Given the description of an element on the screen output the (x, y) to click on. 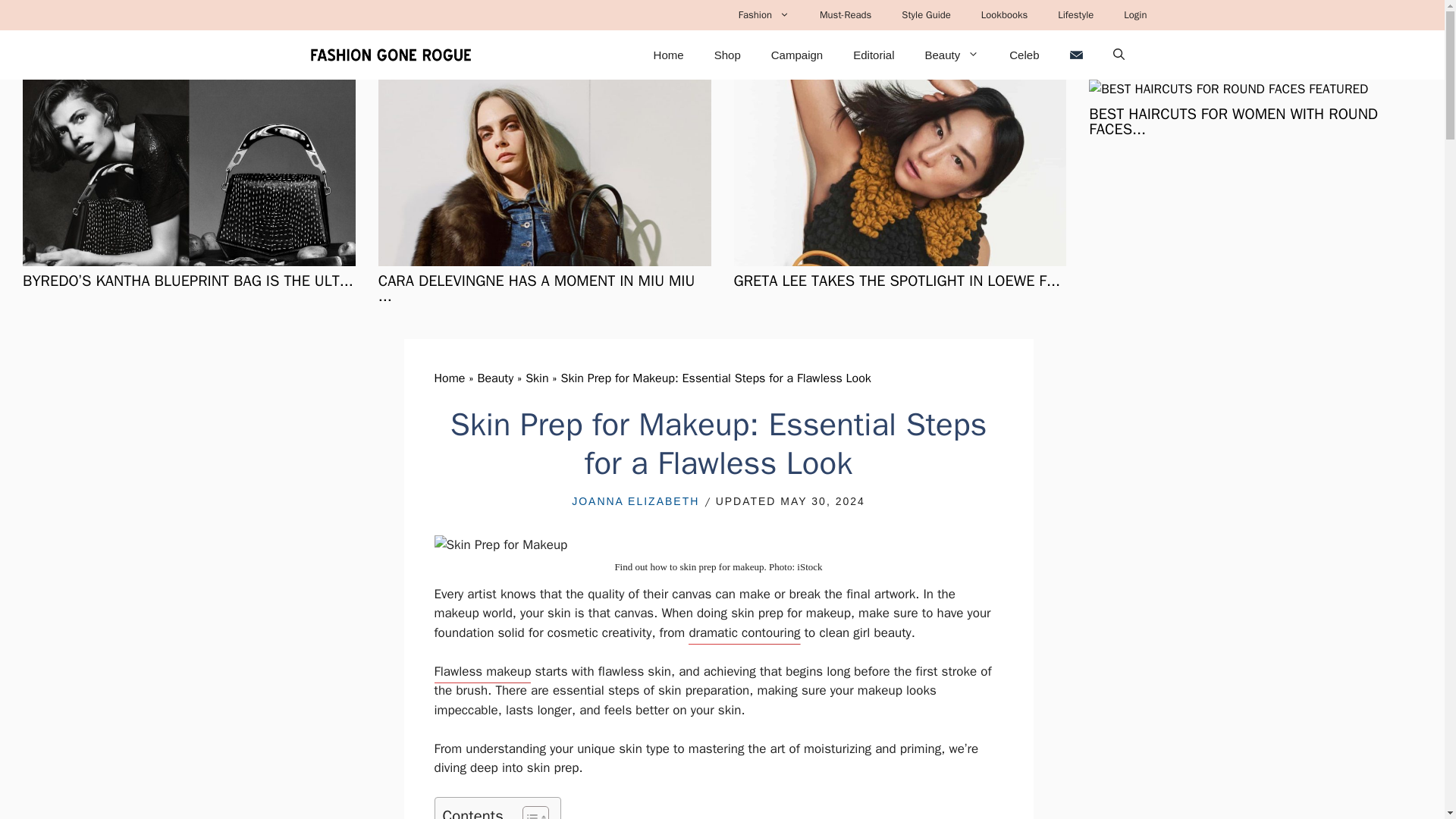
BEST HAIRCUTS FOR WOMEN WITH ROUND FACES... (1233, 121)
Beauty (495, 378)
Lookbooks (1004, 15)
Shop (726, 53)
dramatic contouring (743, 634)
Celeb (1024, 53)
Beauty (951, 53)
Lifestyle (1075, 15)
Login (1134, 15)
Login (1134, 15)
Home (448, 378)
CARA DELEVINGNE HAS A MOMENT IN MIU MIU ... (536, 288)
GRETA LEE TAKES THE SPOTLIGHT IN LOEWE F... (897, 280)
Campaign (796, 53)
Flawless makeup (482, 673)
